Given the description of an element on the screen output the (x, y) to click on. 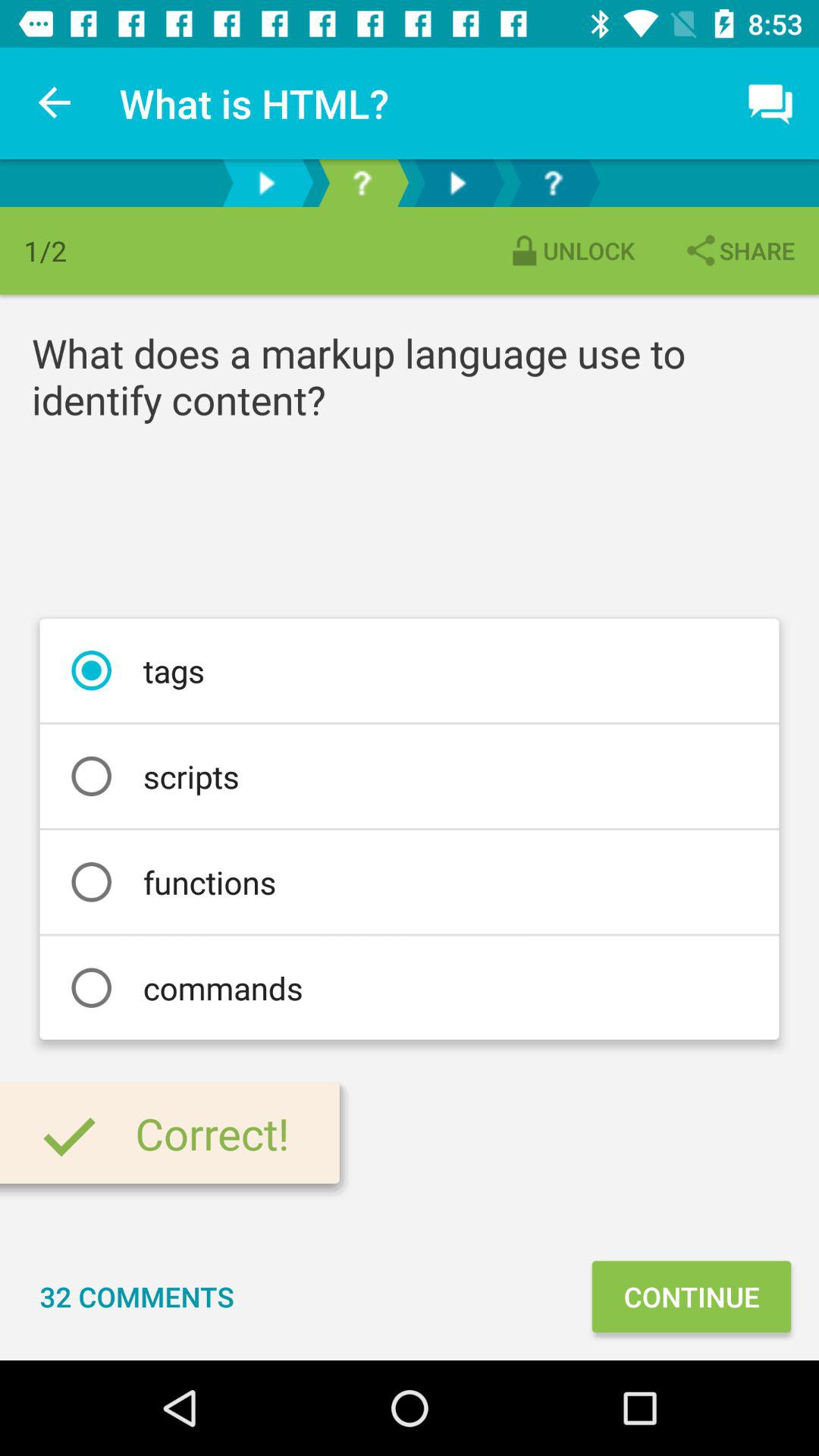
swipe until 32 comments (136, 1296)
